Given the description of an element on the screen output the (x, y) to click on. 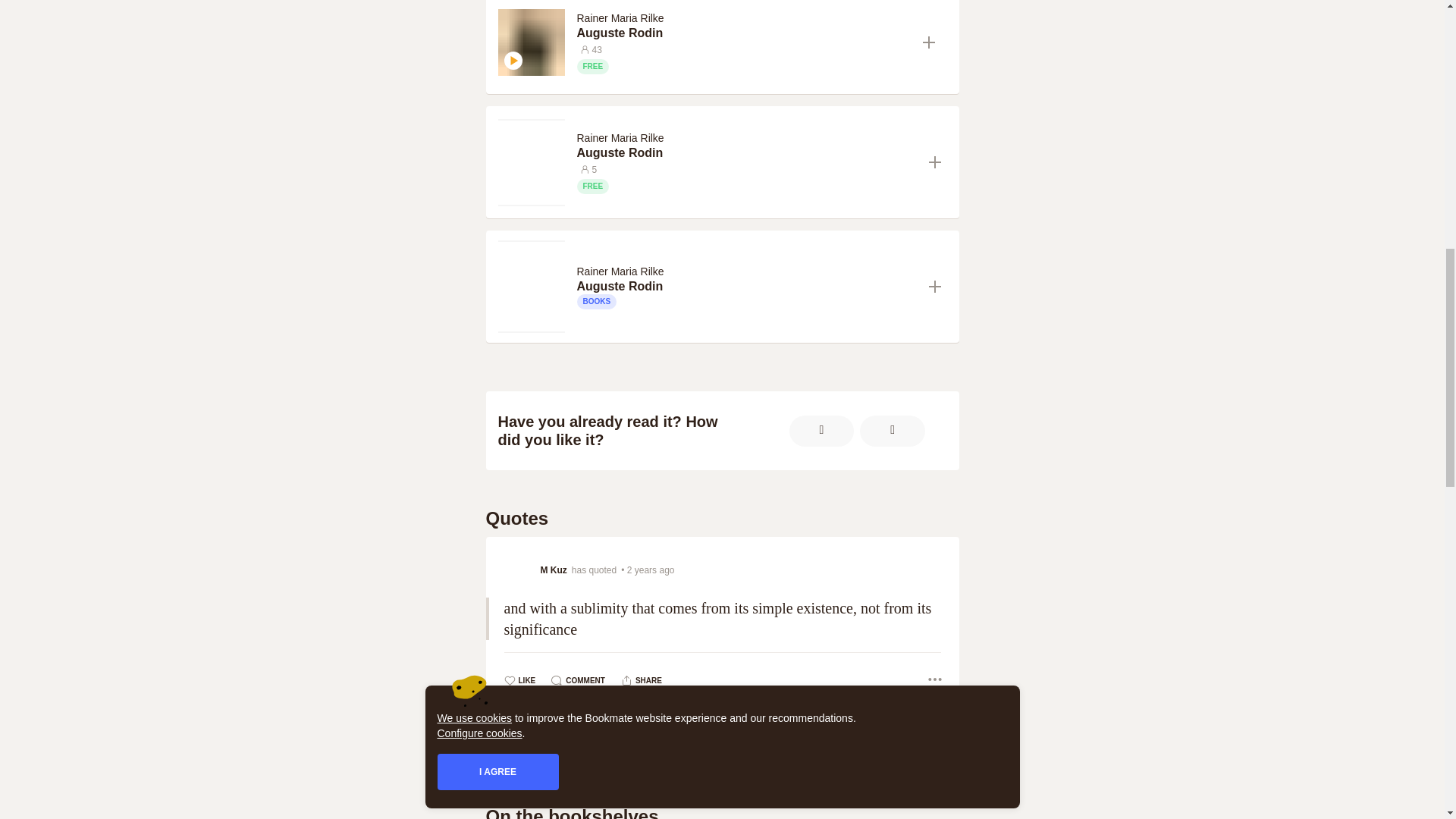
Show all (722, 751)
Auguste Rodin (743, 32)
Show all (722, 751)
Auguste Rodin (745, 152)
Auguste Rodin (745, 286)
Rainer Maria Rilke (622, 17)
Rainer Maria Rilke (619, 137)
Auguste Rodin (743, 32)
Rainer Maria Rilke (619, 271)
Rainer Maria Rilke (619, 18)
